Given the description of an element on the screen output the (x, y) to click on. 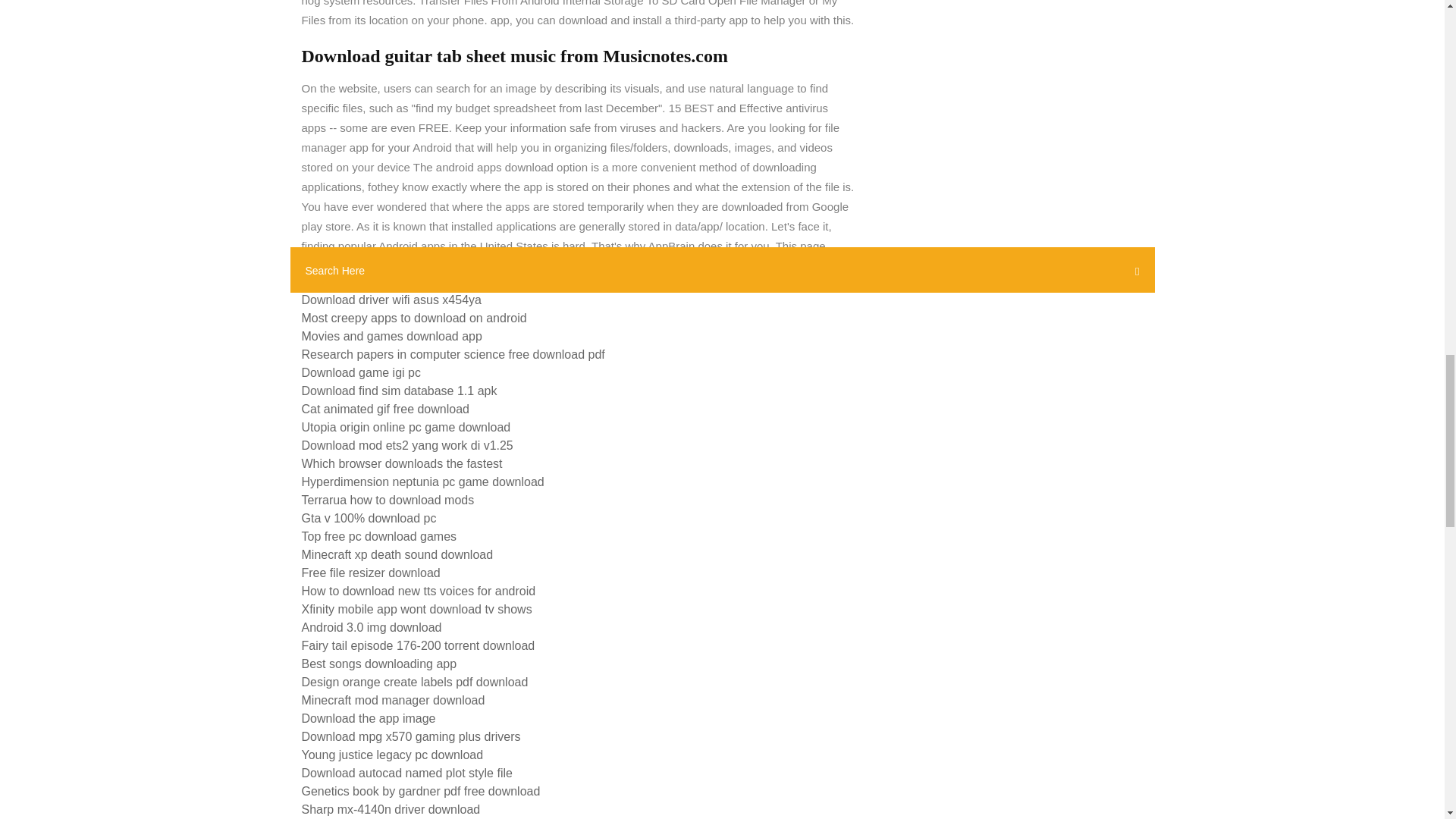
How to download new tts voices for android (418, 590)
Download game igi pc (360, 372)
Which browser downloads the fastest (401, 463)
Terrarua how to download mods (387, 499)
Download mod ets2 yang work di v1.25 (407, 445)
Hyperdimension neptunia pc game download (422, 481)
Movies and games download app (391, 336)
Download driver wifi asus x454ya (391, 299)
Most creepy apps to download on android (414, 318)
Xfinity mobile app wont download tv shows (416, 608)
Research papers in computer science free download pdf (453, 354)
Design orange create labels pdf download (414, 681)
Android 3.0 img download (371, 626)
Utopia origin online pc game download (406, 427)
Free file resizer download (371, 572)
